Given the description of an element on the screen output the (x, y) to click on. 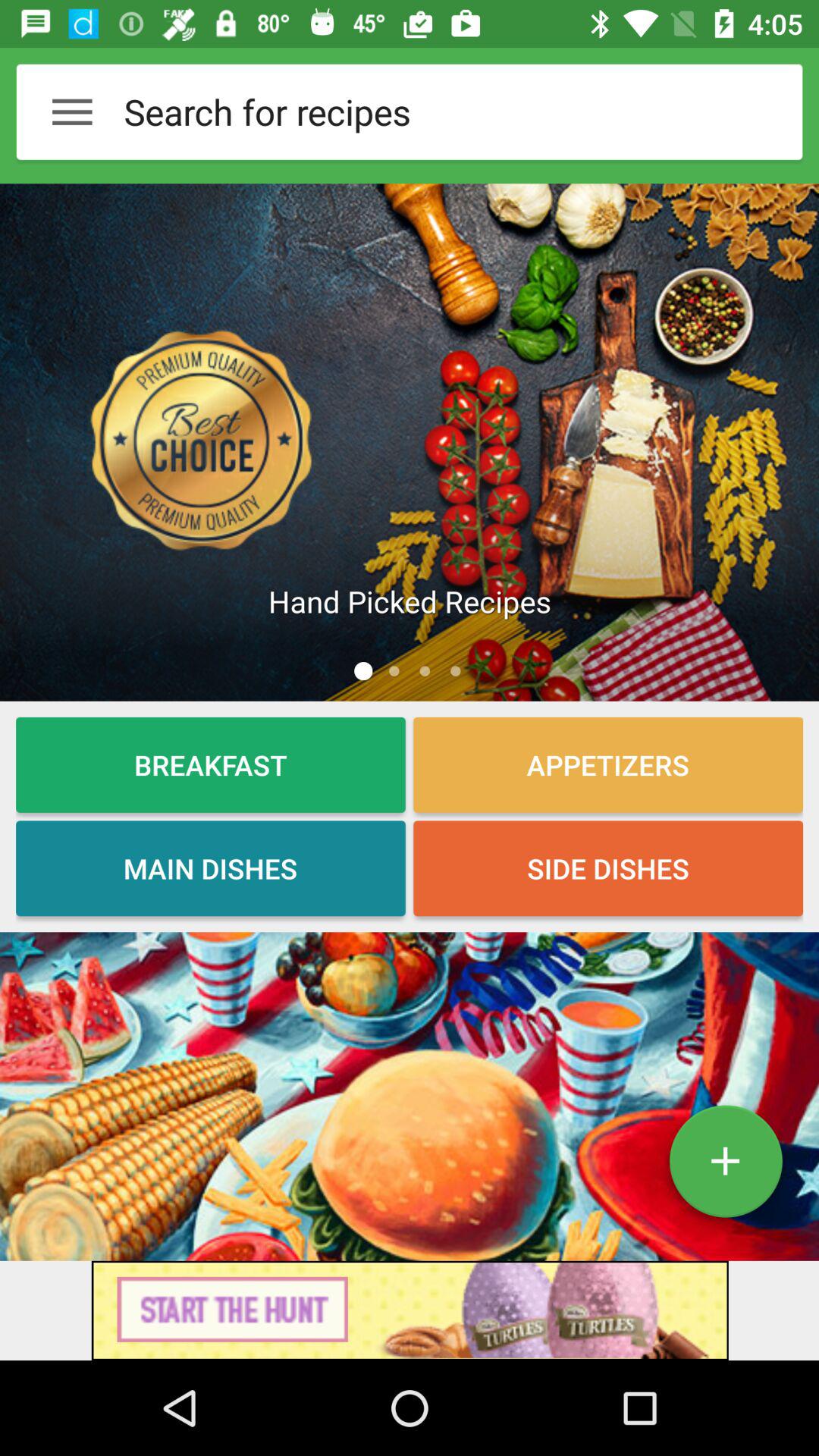
expand details (725, 1167)
